Given the description of an element on the screen output the (x, y) to click on. 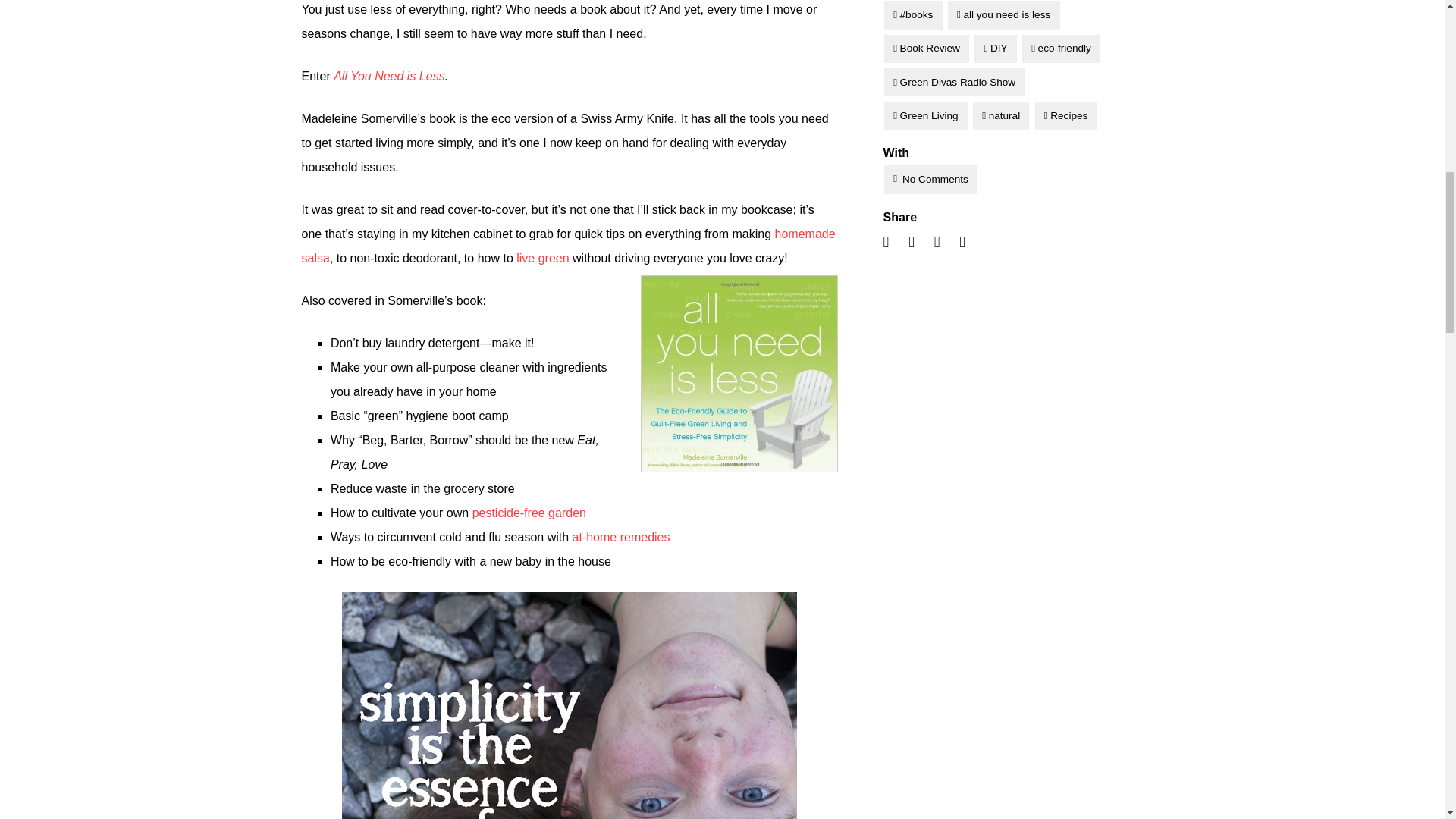
at-home remedies (620, 536)
live green (542, 257)
Another Meatless Monday: Artichoke Salsa Recipe (568, 245)
All You Need is Less (388, 75)
homemade salsa (568, 245)
pesticide-free garden (528, 512)
8 Amazing Natural Cold Remedies from the Kitchen (620, 536)
